Given the description of an element on the screen output the (x, y) to click on. 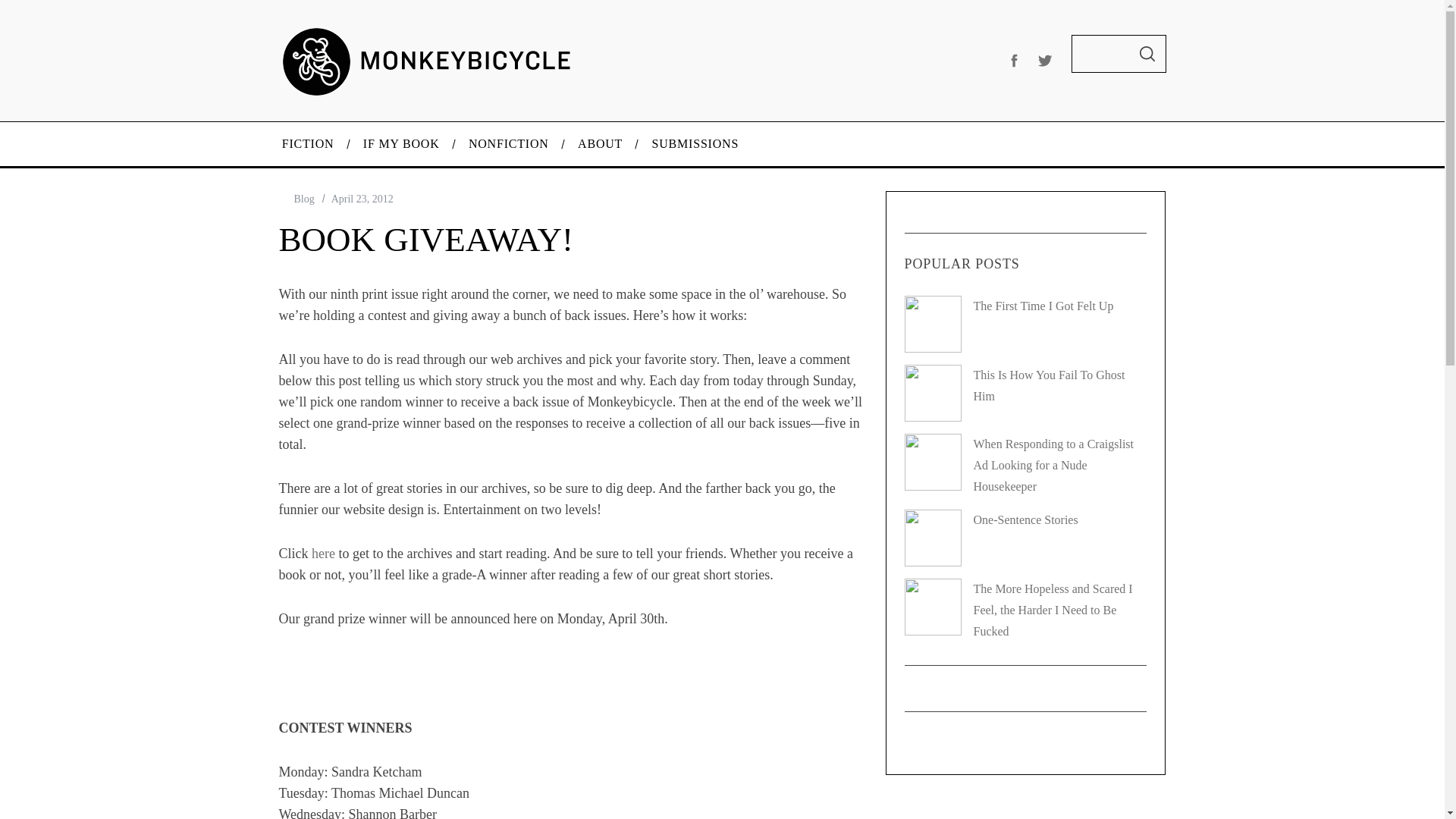
FICTION (306, 144)
ABOUT (600, 144)
IF MY BOOK (401, 144)
here (322, 553)
SUBMISSIONS (694, 144)
NONFICTION (508, 144)
This Is How You Fail To Ghost Him (1049, 385)
The First Time I Got Felt Up (1043, 305)
Blog (304, 198)
SEARCH (1147, 53)
